Given the description of an element on the screen output the (x, y) to click on. 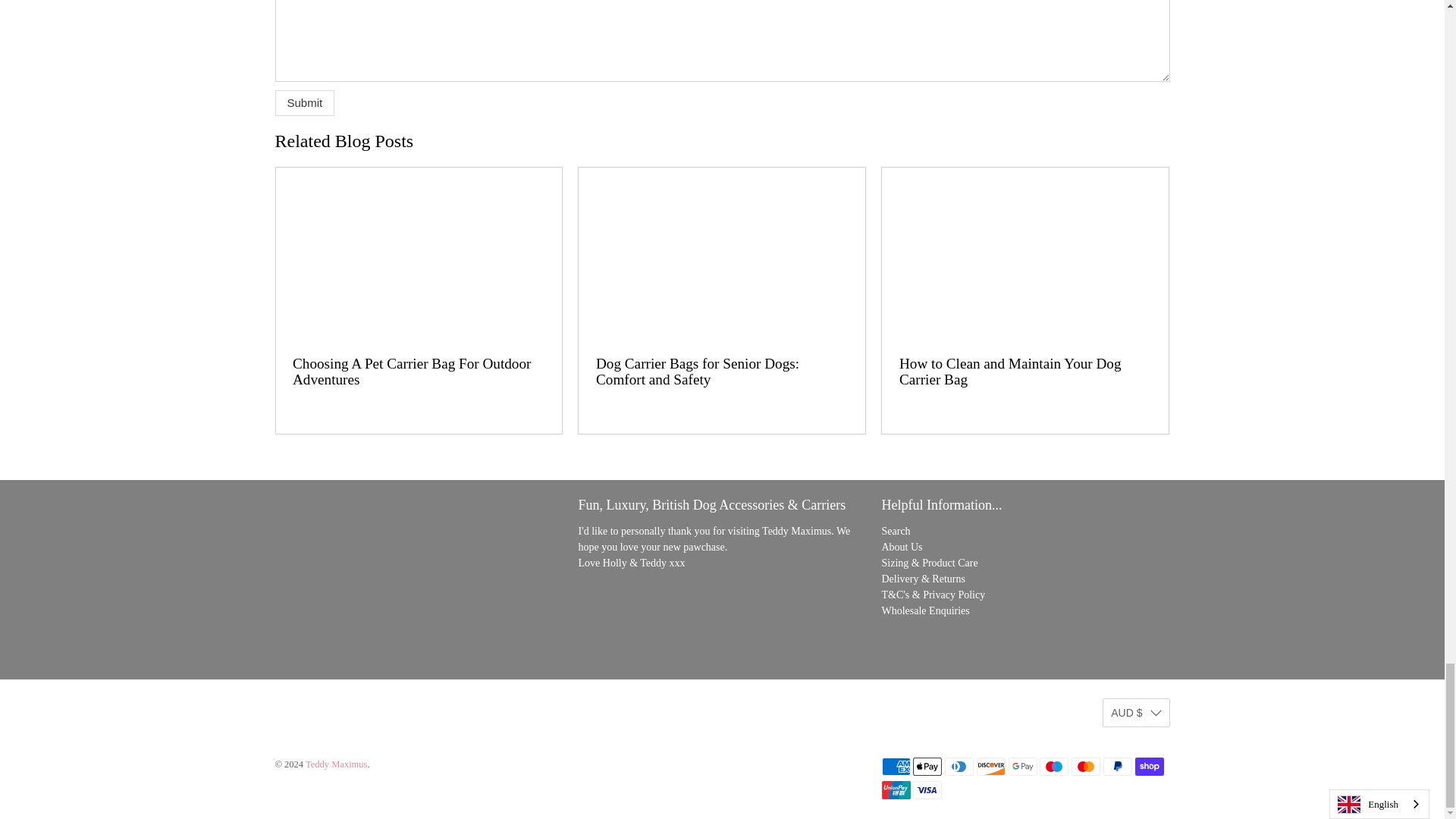
Choosing A Pet Carrier Bag For Outdoor Adventures (411, 371)
Choosing A Pet Carrier Bag For Outdoor Adventures (419, 252)
Dog Carrier Bags for Senior Dogs: Comfort and Safety (697, 371)
Mastercard (1085, 766)
Dog Carrier Bags for Senior Dogs: Comfort and Safety (721, 252)
How to Clean and Maintain Your Dog Carrier Bag (1010, 371)
Shop Pay (1148, 766)
Google Pay (1022, 766)
Apple Pay (927, 766)
American Express (895, 766)
